Given the description of an element on the screen output the (x, y) to click on. 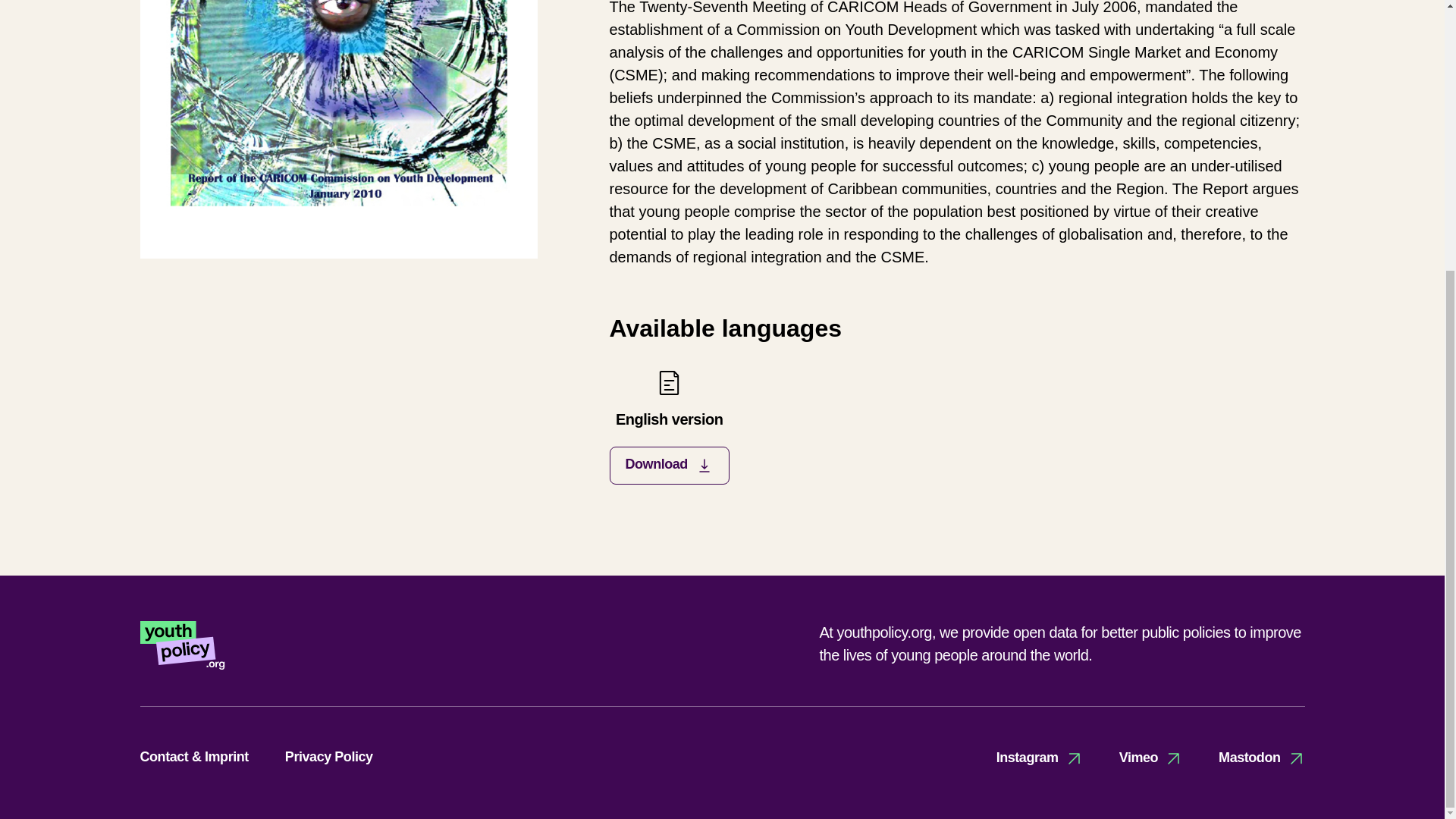
Privacy Policy (328, 757)
Mastodon (1261, 757)
Instagram (1039, 757)
Vimeo (669, 425)
